Given the description of an element on the screen output the (x, y) to click on. 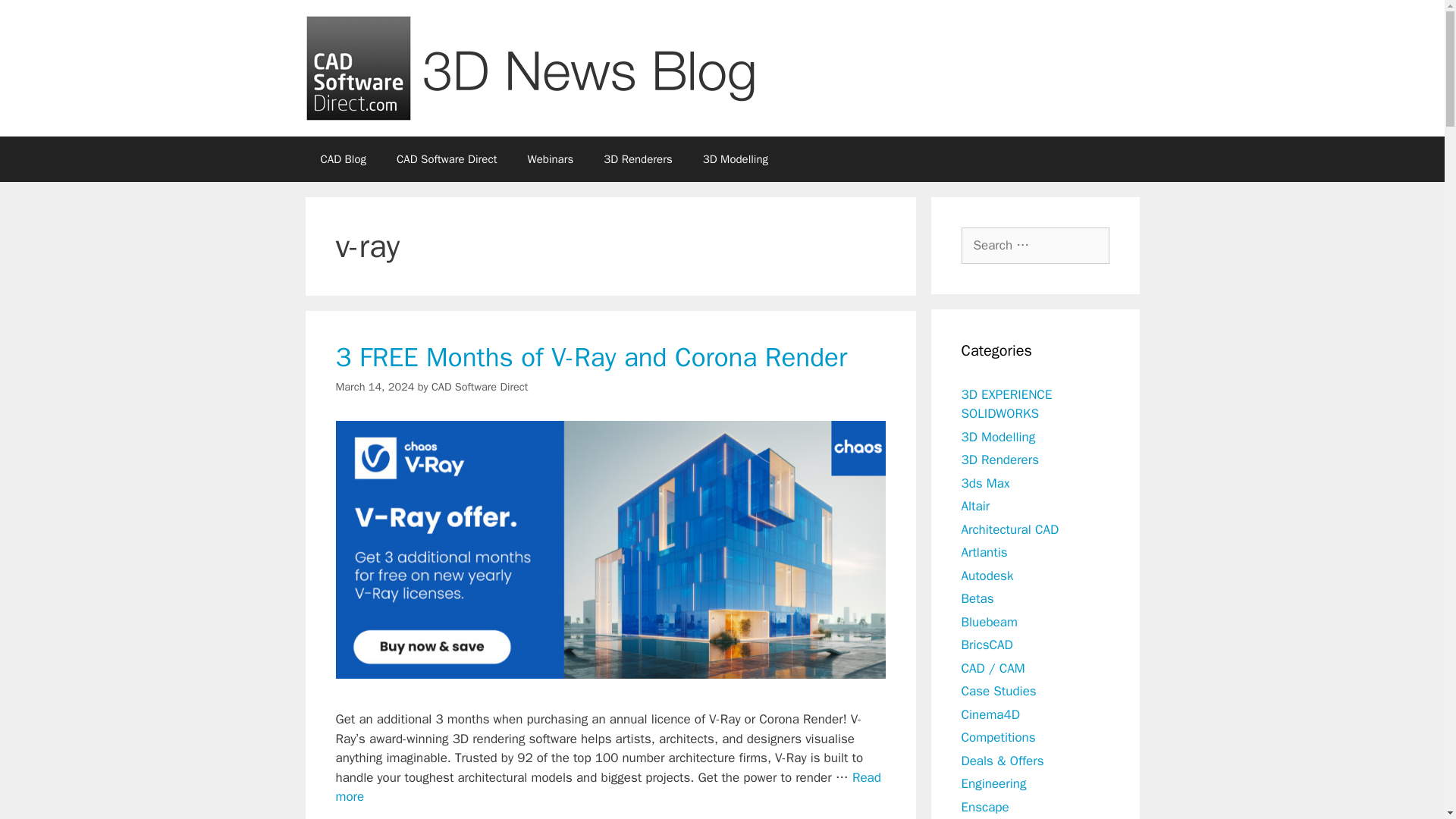
CAD Software Direct (478, 386)
Buy CAD Software (446, 158)
3 FREE Months of V-Ray and Corona Render (607, 787)
3 FREE Months of V-Ray and Corona Render (590, 356)
Webinars (550, 158)
Read more (607, 787)
3D Renderers (637, 158)
3D Modelling (735, 158)
View all posts by CAD Software Direct (478, 386)
CAD Software Direct (446, 158)
